Given the description of an element on the screen output the (x, y) to click on. 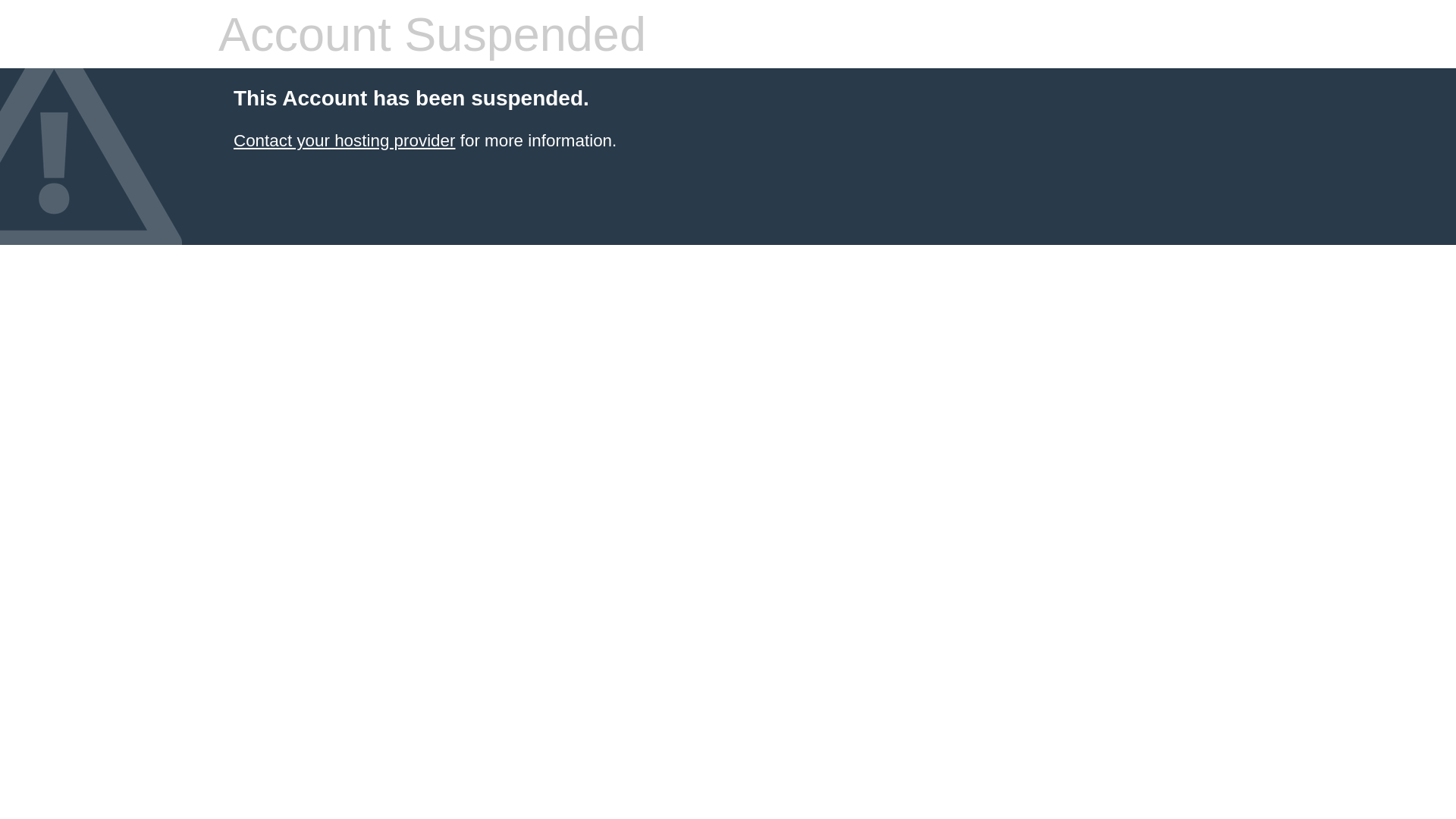
Contact your hosting provider Element type: text (344, 140)
